Given the description of an element on the screen output the (x, y) to click on. 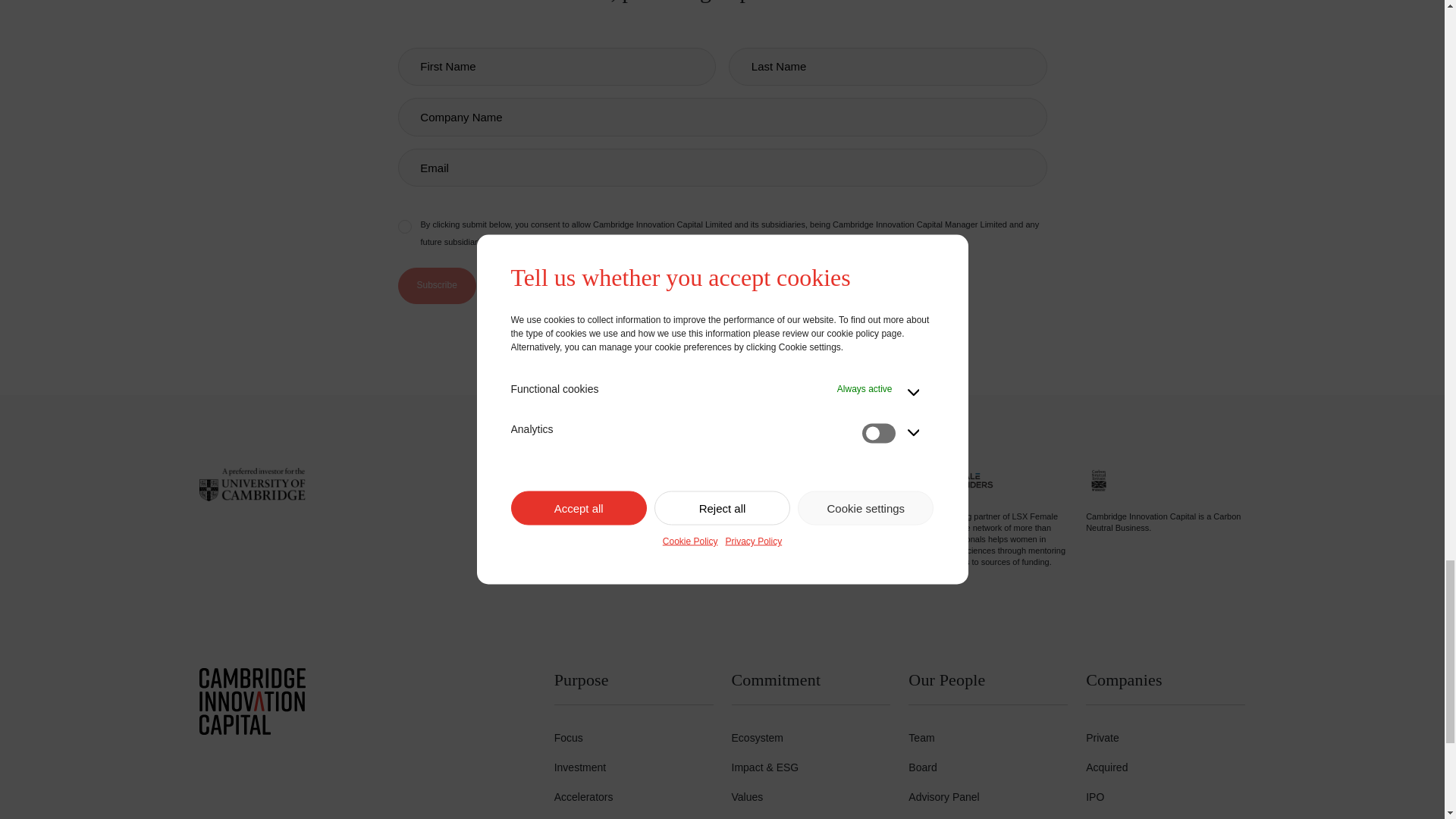
Subscribe (436, 285)
